Given the description of an element on the screen output the (x, y) to click on. 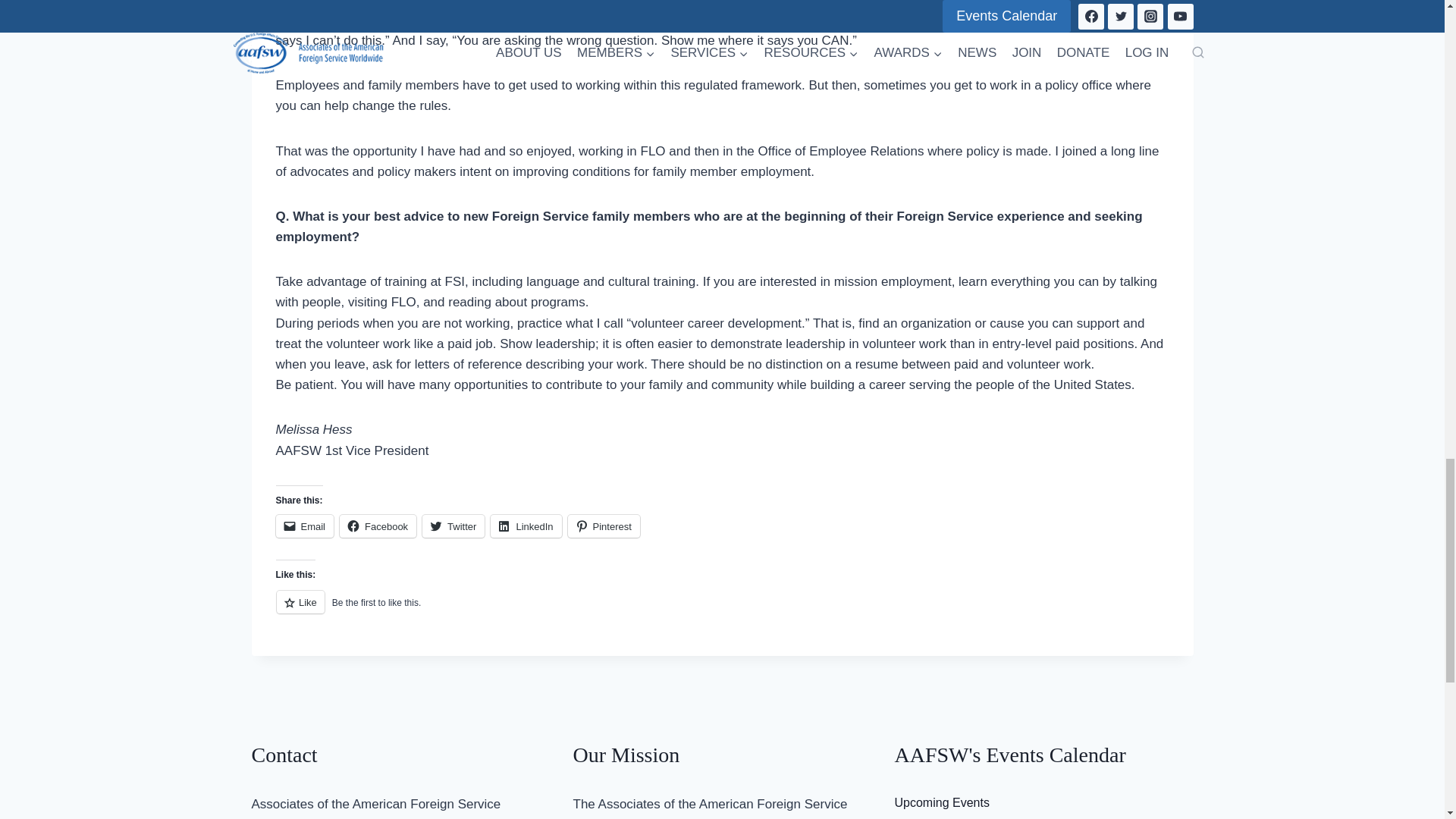
Click to share on LinkedIn (525, 526)
Like or Reblog (722, 610)
Click to email a link to a friend (305, 526)
Click to share on Facebook (377, 526)
Click to share on Twitter (453, 526)
Click to share on Pinterest (603, 526)
